Given the description of an element on the screen output the (x, y) to click on. 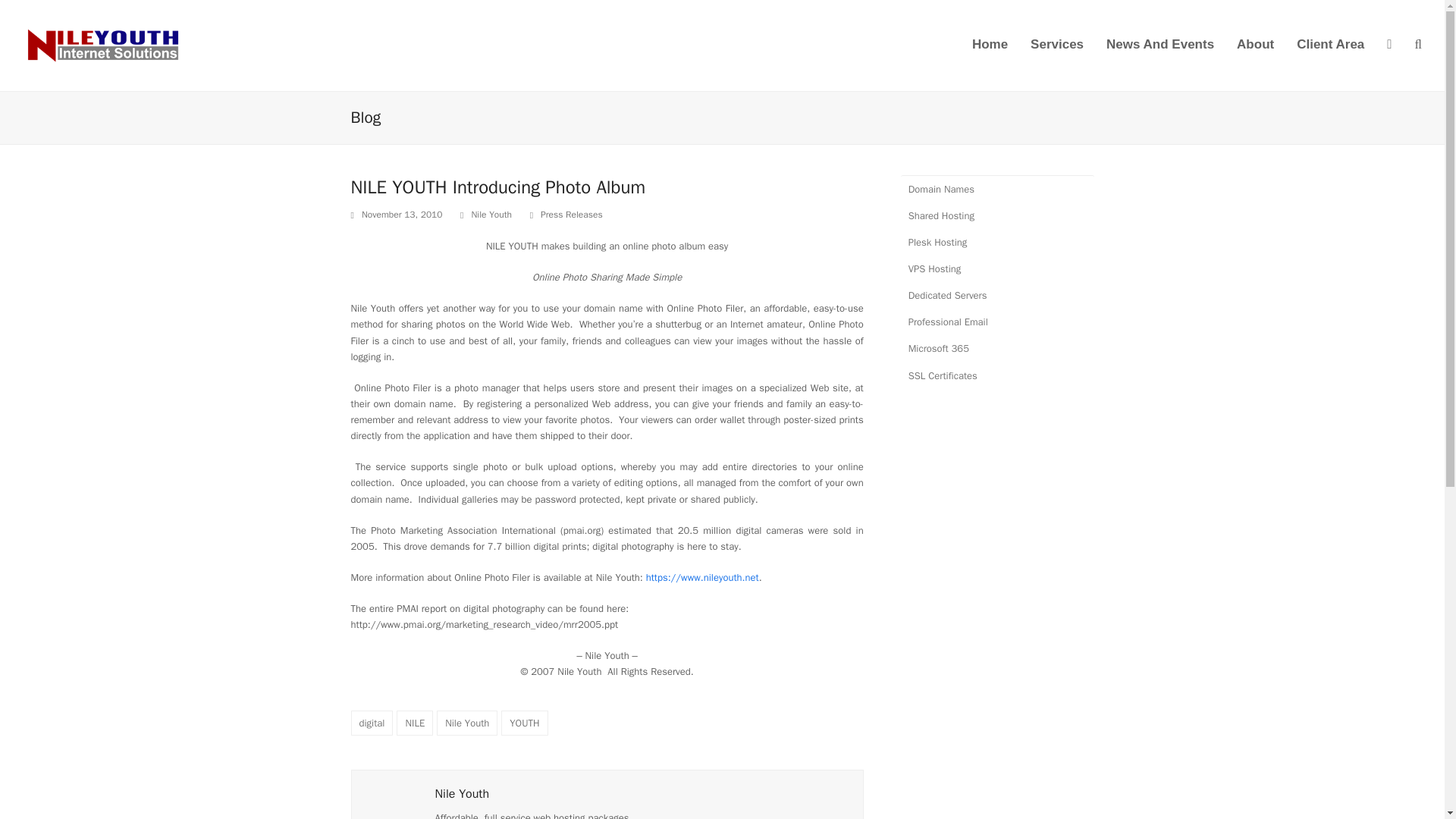
Services (1056, 45)
Home (989, 45)
Services (1056, 45)
News And Events (1159, 45)
About (1255, 45)
NILE (414, 722)
digital (371, 722)
Press Releases (571, 214)
Client Area (1330, 45)
Nile Youth (466, 722)
